Given the description of an element on the screen output the (x, y) to click on. 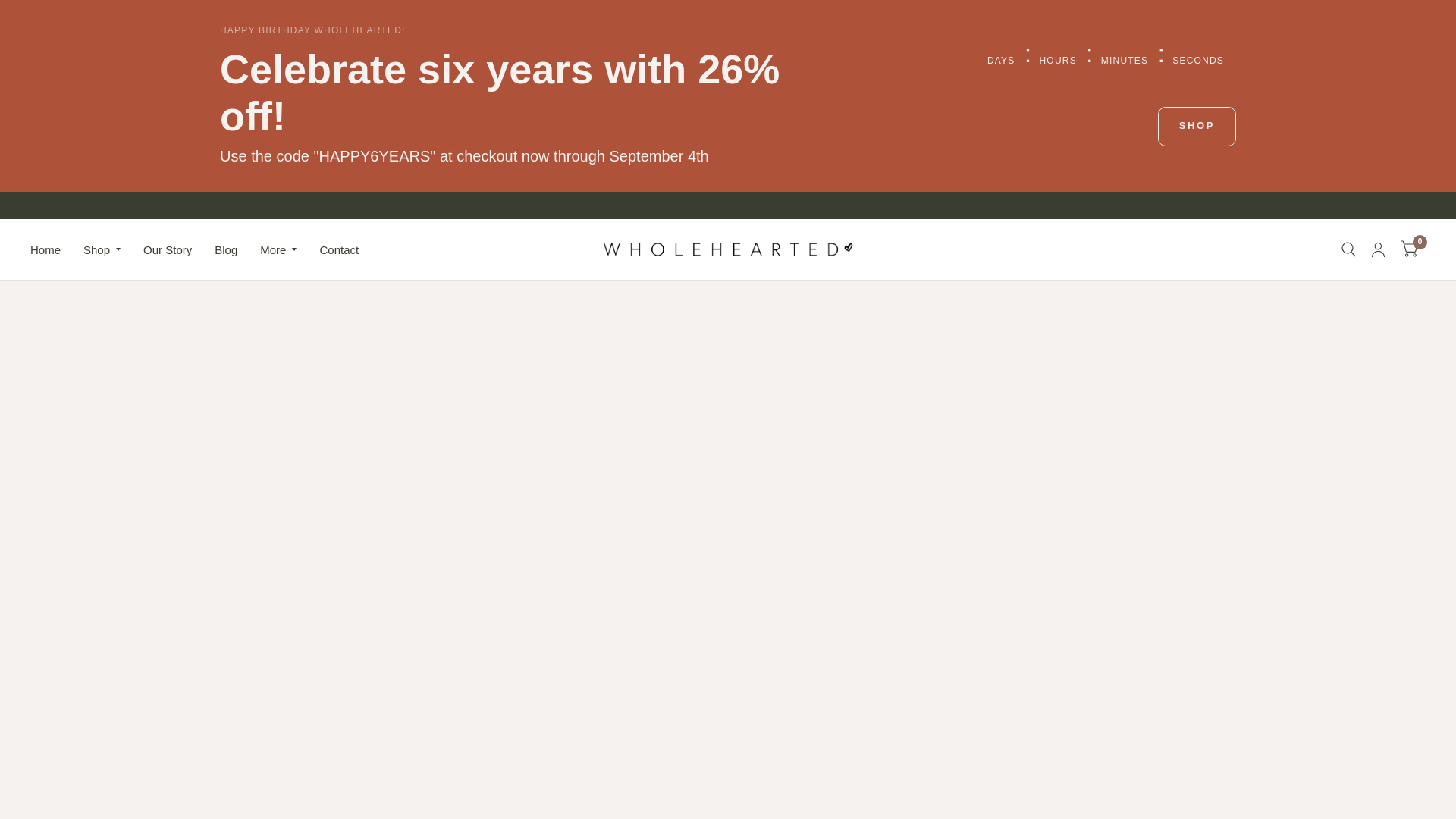
Our Story (167, 249)
Contact (338, 249)
Shop (1196, 126)
Shop (101, 249)
SHOP (1196, 126)
More (278, 249)
